Given the description of an element on the screen output the (x, y) to click on. 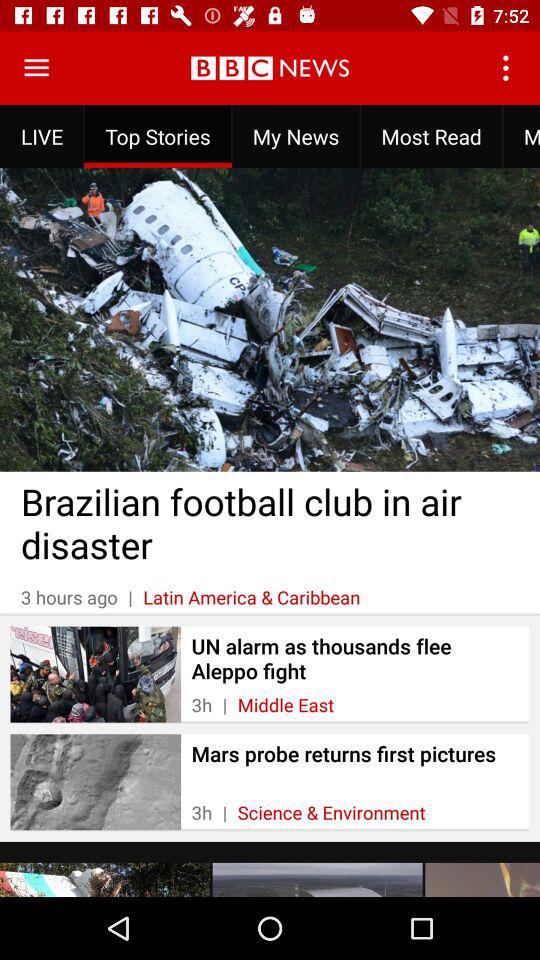
open menu (36, 68)
